Given the description of an element on the screen output the (x, y) to click on. 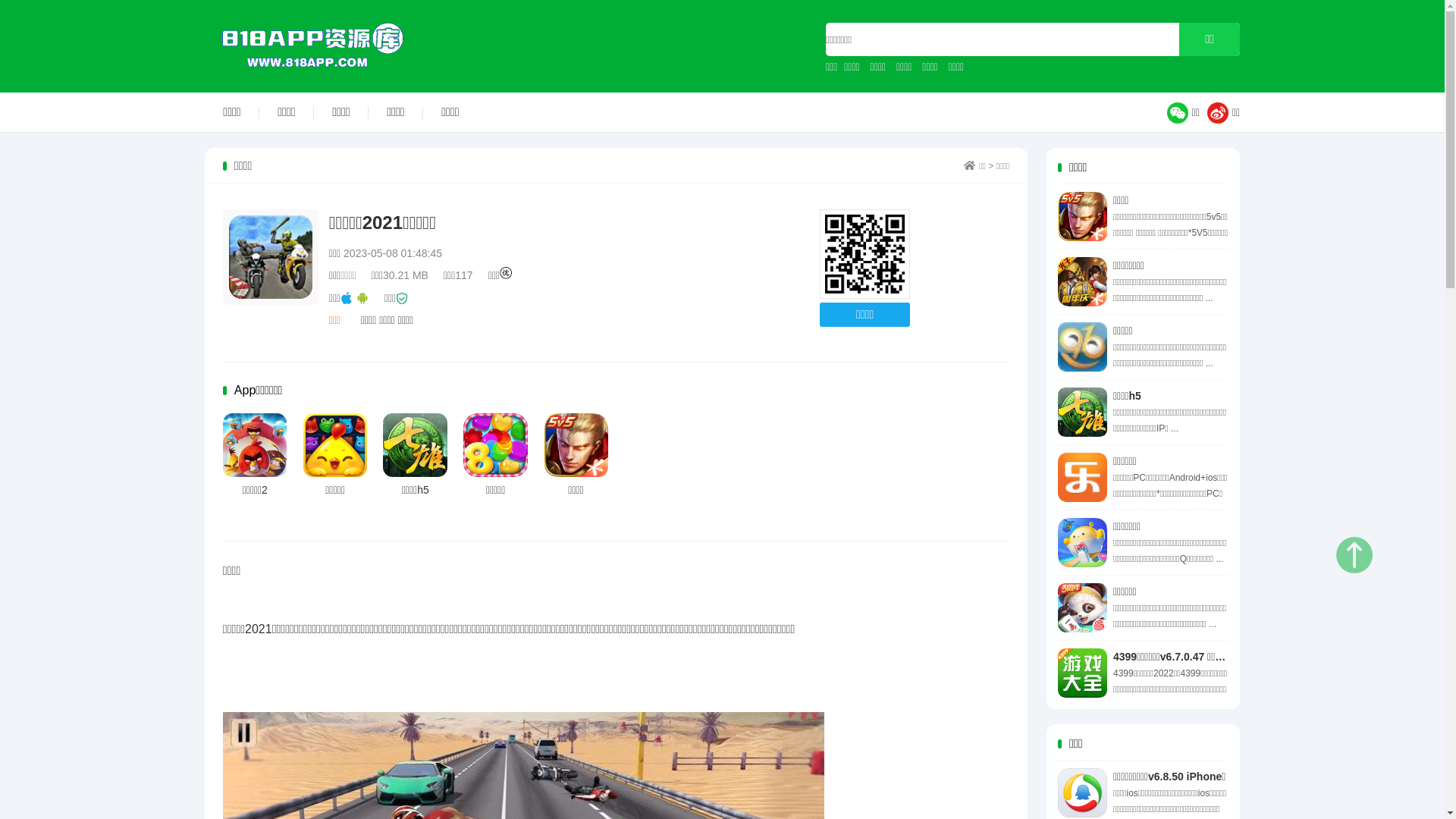
http://www.818app.com Element type: hover (864, 254)
